Given the description of an element on the screen output the (x, y) to click on. 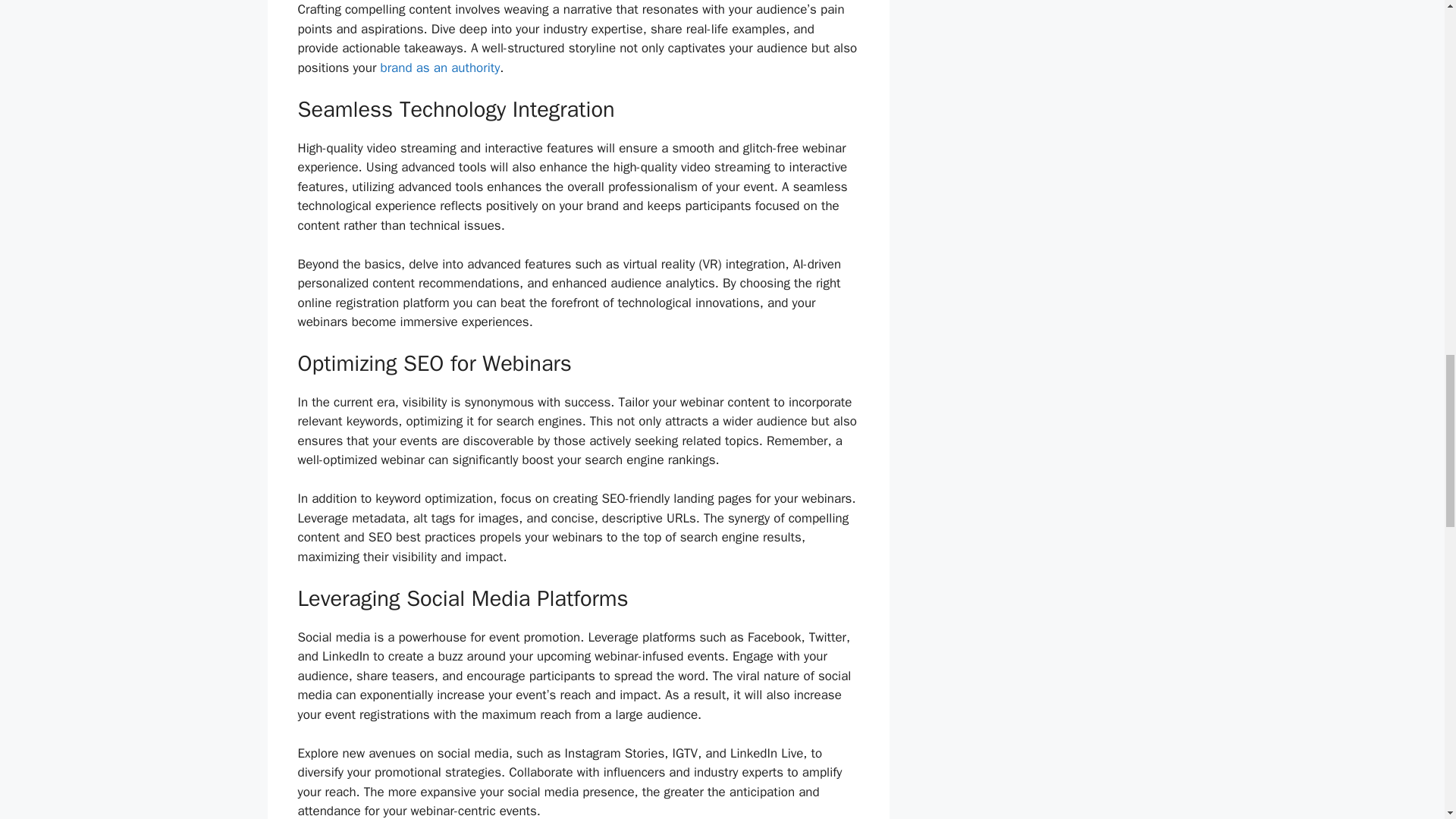
brand as an authority (439, 67)
